Given the description of an element on the screen output the (x, y) to click on. 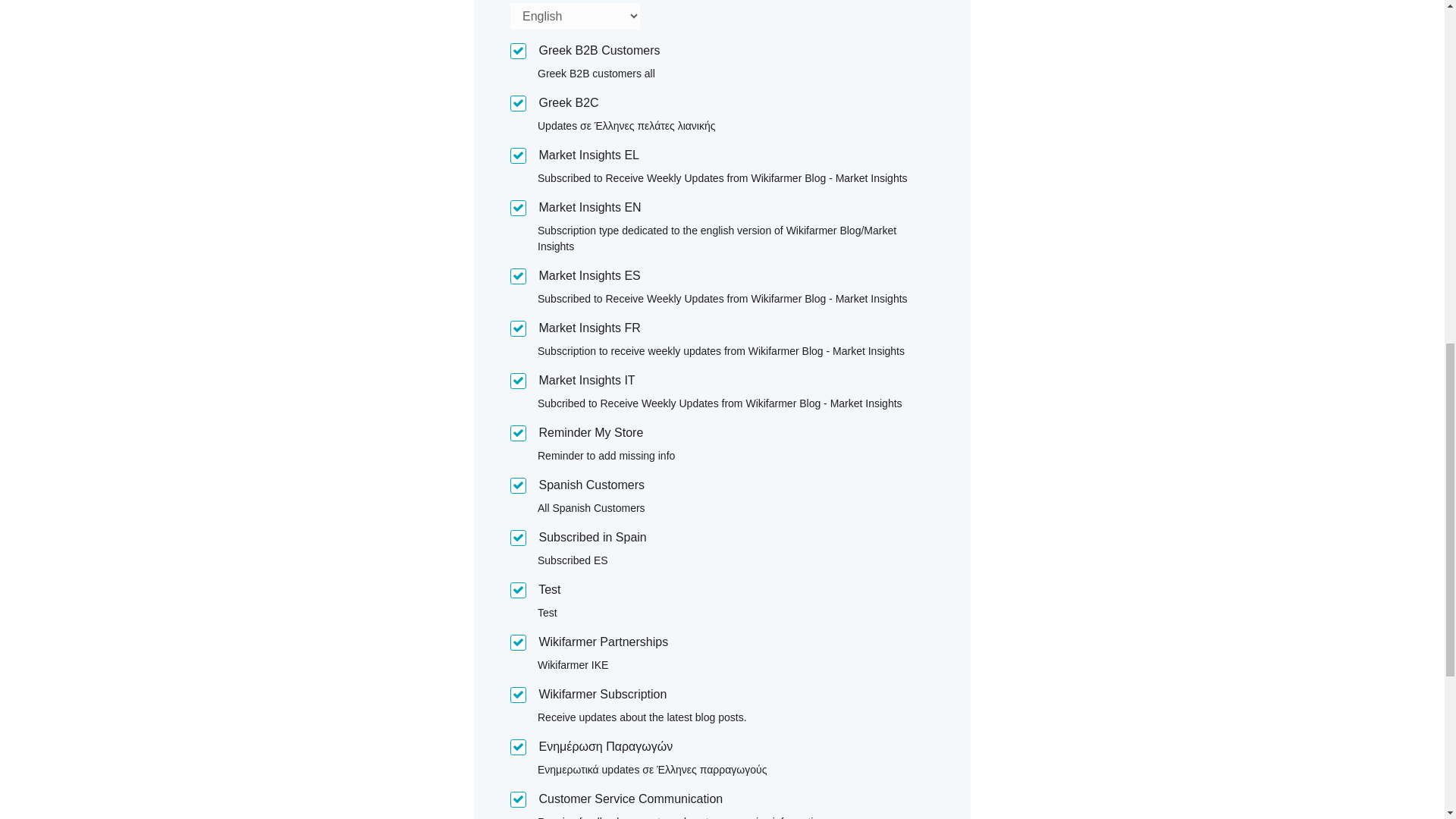
on (518, 328)
on (518, 50)
on (518, 103)
on (518, 590)
on (518, 381)
on (518, 207)
on (518, 485)
on (518, 276)
on (518, 155)
on (518, 433)
on (518, 747)
on (518, 799)
on (518, 694)
on (518, 642)
on (518, 537)
